Given the description of an element on the screen output the (x, y) to click on. 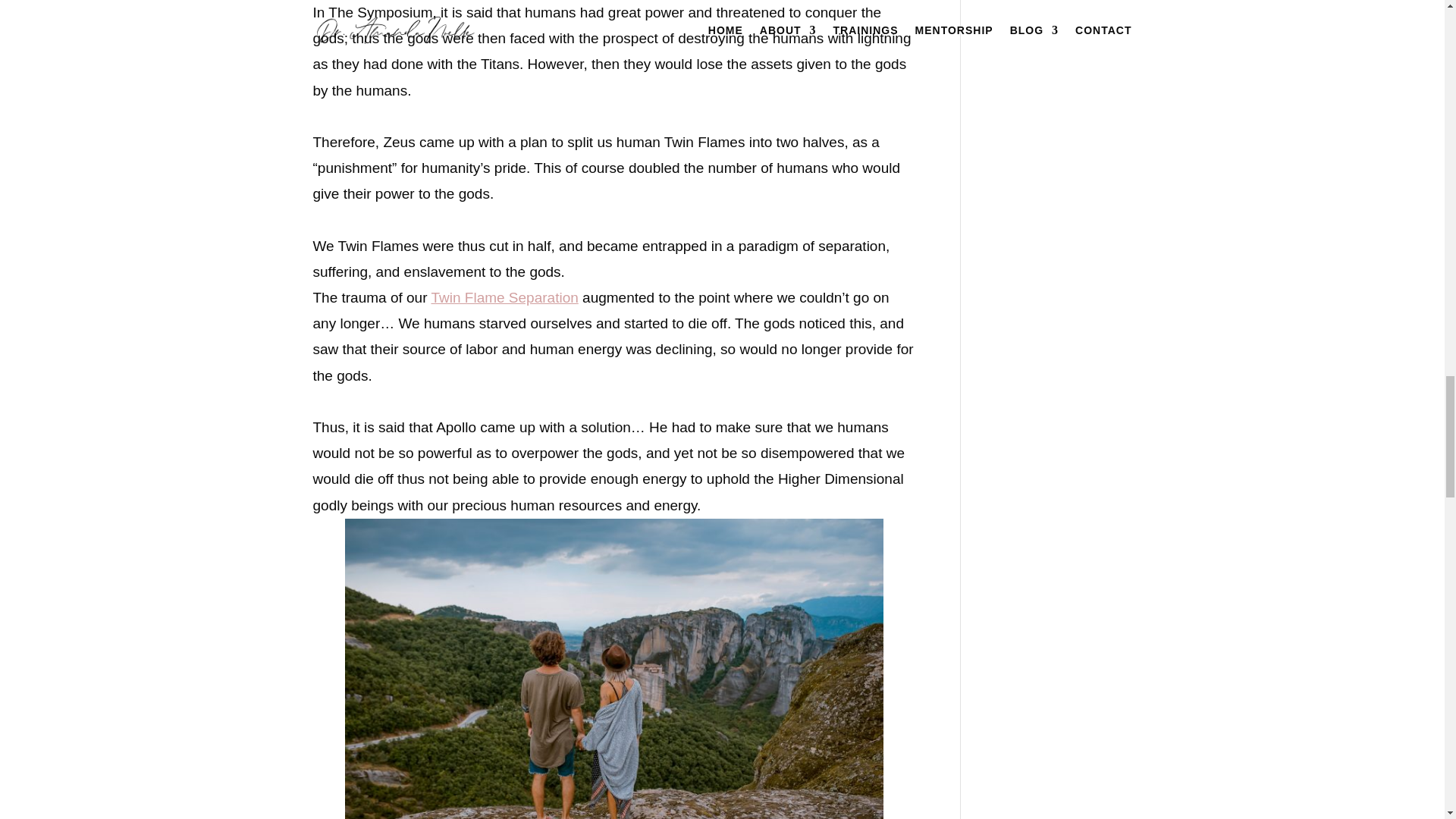
Twin Flame Separation (504, 297)
